Given the description of an element on the screen output the (x, y) to click on. 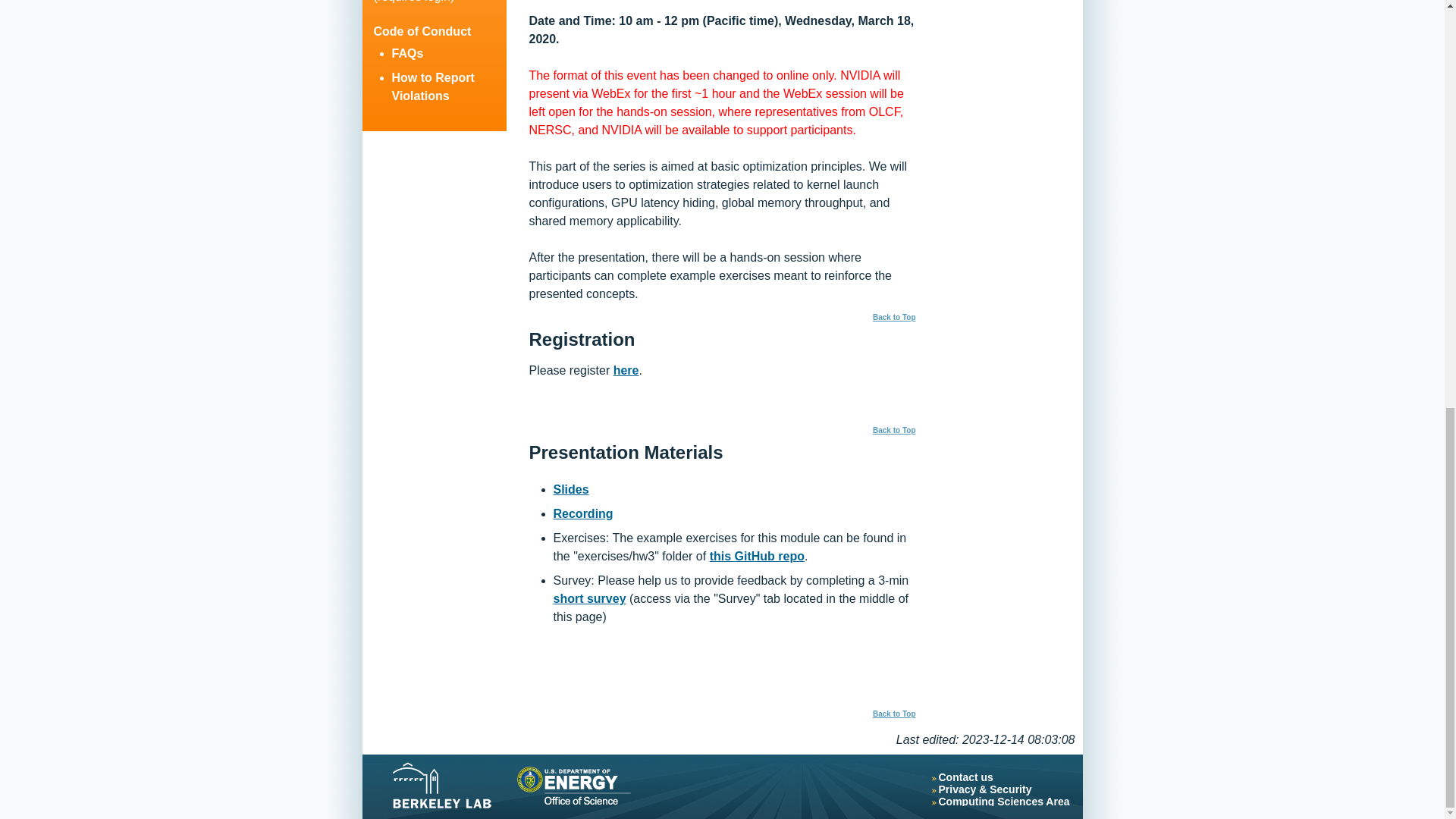
Answers to common questions about the NERSC Code of Conduct. (407, 52)
